Given the description of an element on the screen output the (x, y) to click on. 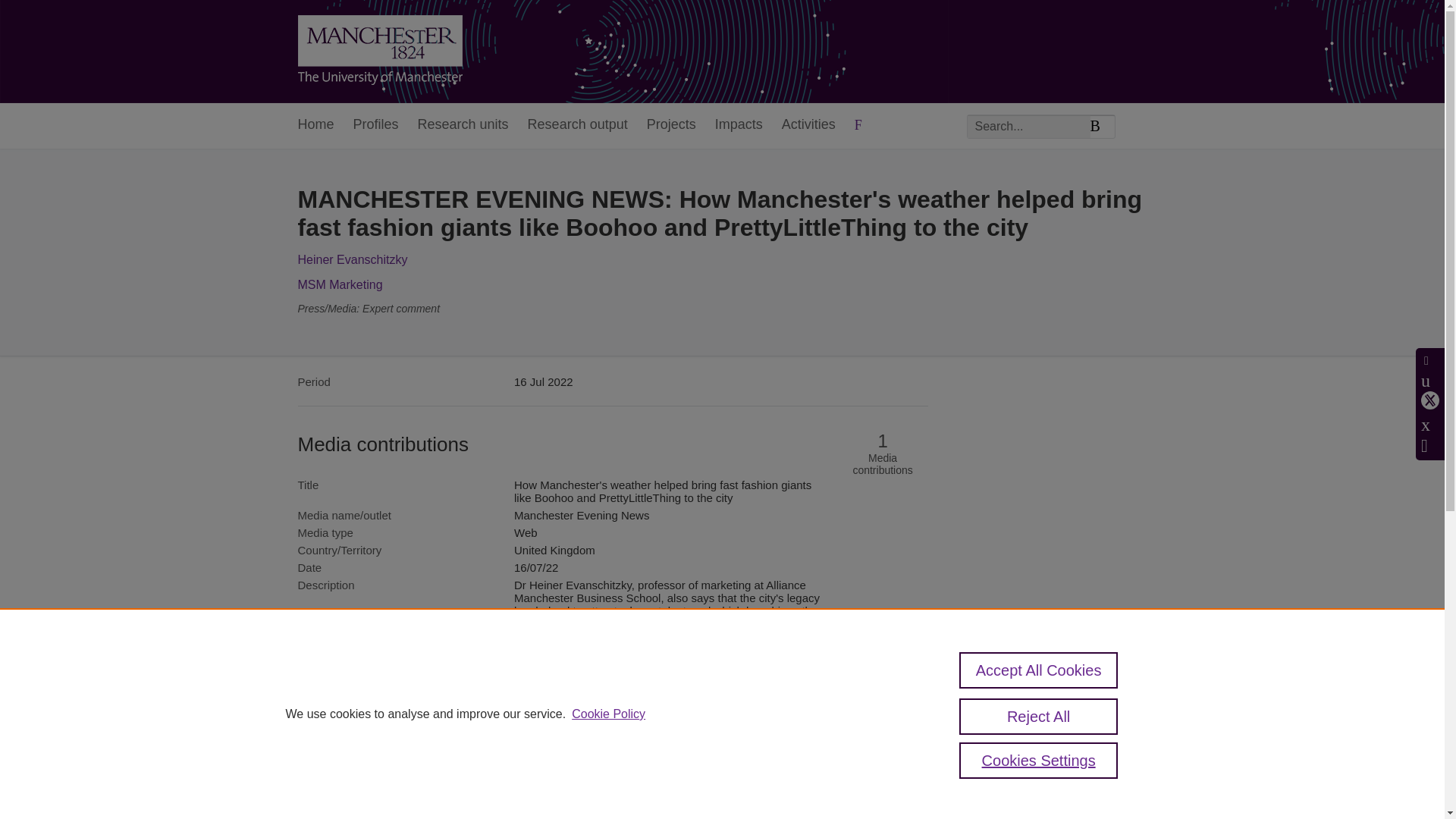
Projects (670, 125)
Research units (462, 125)
X (1430, 400)
MSM Marketing (339, 284)
Impacts (738, 125)
Cookie Policy (608, 713)
Research output (577, 125)
Research Explorer The University of Manchester Home (379, 51)
Heiner Evanschitzky (352, 259)
Profiles (375, 125)
Cookies Settings (1038, 760)
Activities (808, 125)
